Given the description of an element on the screen output the (x, y) to click on. 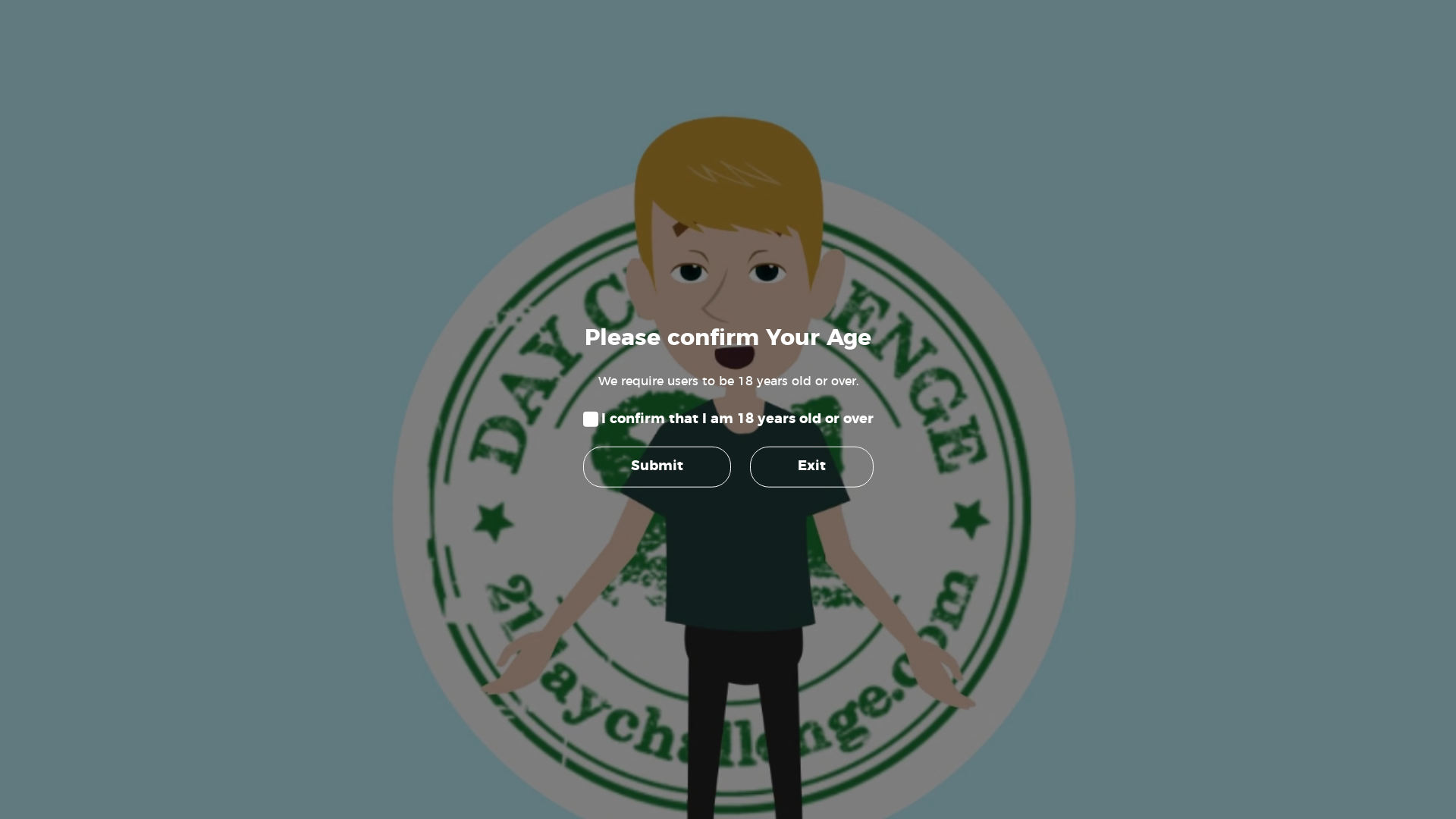
Learn more Element type: text (943, 511)
Cookie Details Element type: text (678, 623)
Individual Privacy Preferences Element type: text (727, 591)
Welcome to the 21 DAY CHALLENGE Element type: hover (462, 490)
Exit Element type: text (810, 466)
Load video Element type: text (943, 538)
Settings Element type: text (549, 370)
21 DAY CHALLENGE Element type: hover (727, 77)
Privacy Policy Element type: text (742, 623)
ABOUT 21DC Element type: text (571, 167)
MORE TANTRIC SEX Element type: text (970, 167)
privacy policy Element type: text (614, 355)
Save Element type: text (727, 501)
WELCOME Element type: text (380, 167)
FREE SIGNUP! Element type: text (472, 167)
CONTACT Element type: text (1076, 167)
COMMUNITY Element type: text (856, 167)
REVIEWS Element type: text (658, 167)
TIPS FROM TNT Element type: text (753, 167)
Imprint Element type: text (791, 623)
Accept all Element type: text (727, 456)
Submit Element type: text (656, 466)
Decline Element type: text (727, 546)
